Given the description of an element on the screen output the (x, y) to click on. 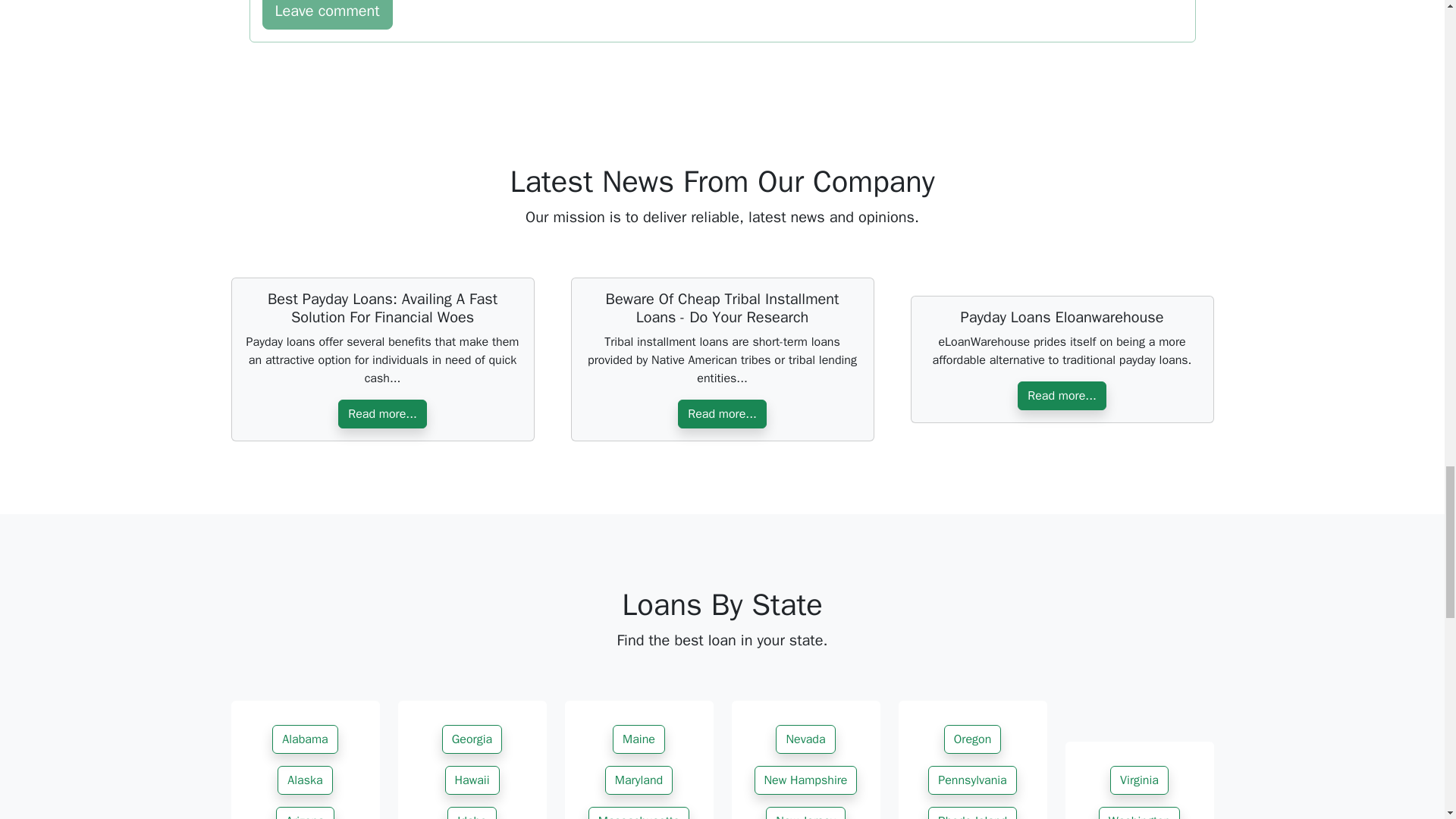
Maine (638, 738)
Idaho (471, 812)
Hawaii (471, 779)
Read more... (721, 413)
Alabama (304, 738)
Arizona (304, 812)
Read more... (381, 413)
Georgia (472, 738)
Read more... (1061, 395)
Massachusetts (638, 812)
